Given the description of an element on the screen output the (x, y) to click on. 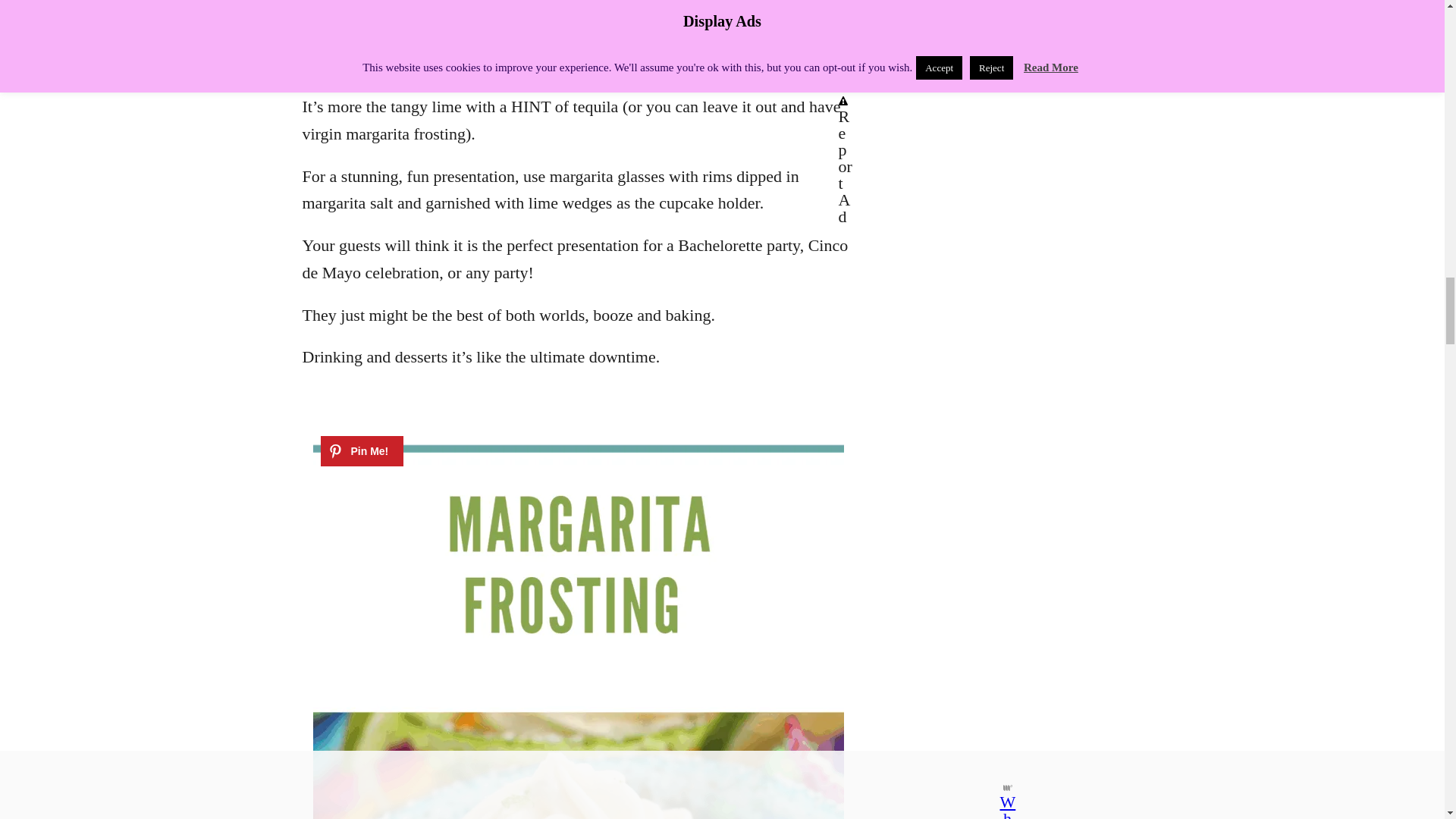
Pin Me! (361, 450)
